Given the description of an element on the screen output the (x, y) to click on. 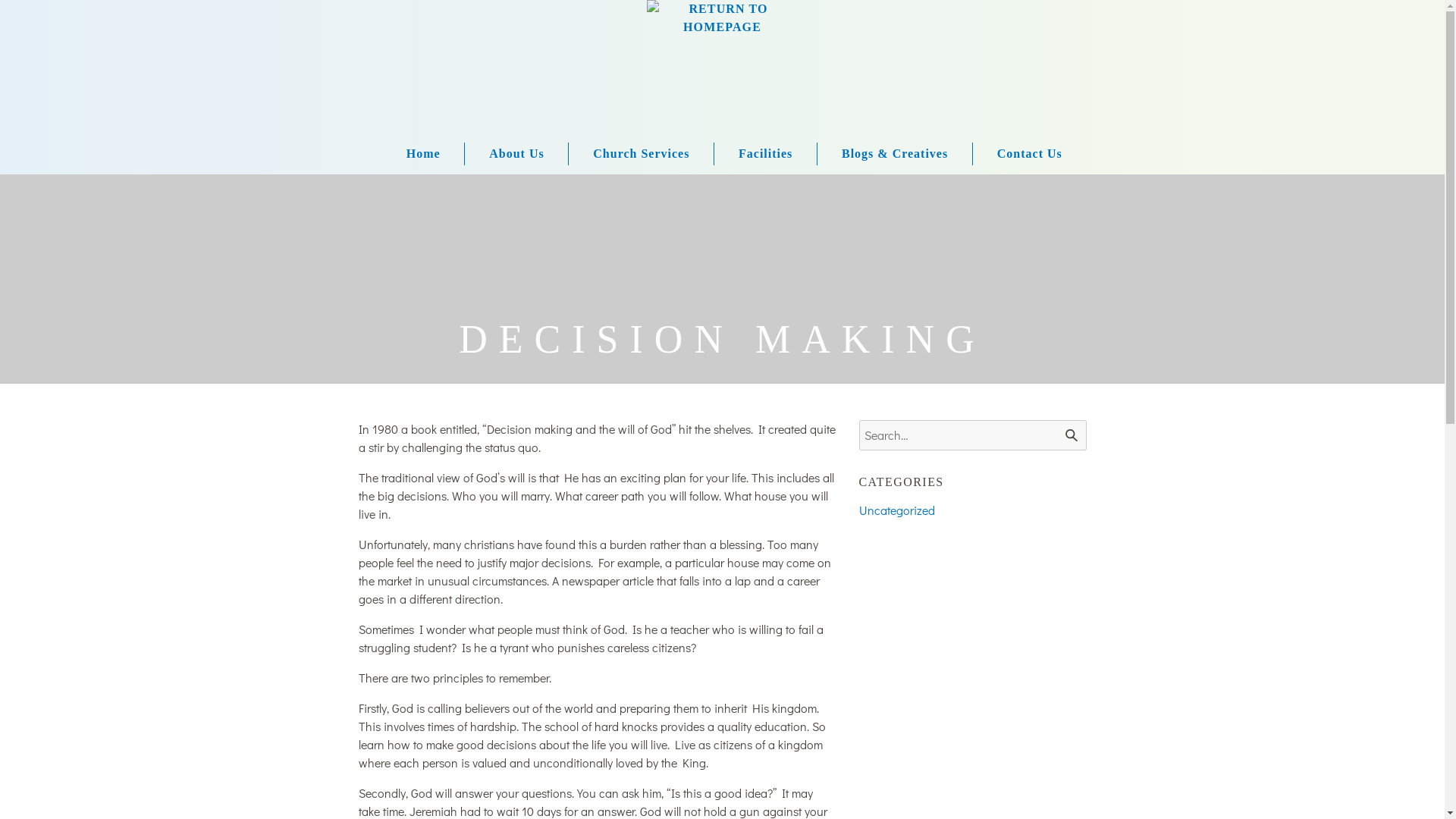
Home Element type: text (423, 153)
About Us Element type: text (503, 153)
Facilities Element type: text (752, 153)
Church Services Element type: text (628, 153)
Blogs & Creatives Element type: text (881, 153)
Search Element type: hover (1070, 435)
Contact Us Element type: text (1017, 153)
Uncategorized Element type: text (896, 509)
